Given the description of an element on the screen output the (x, y) to click on. 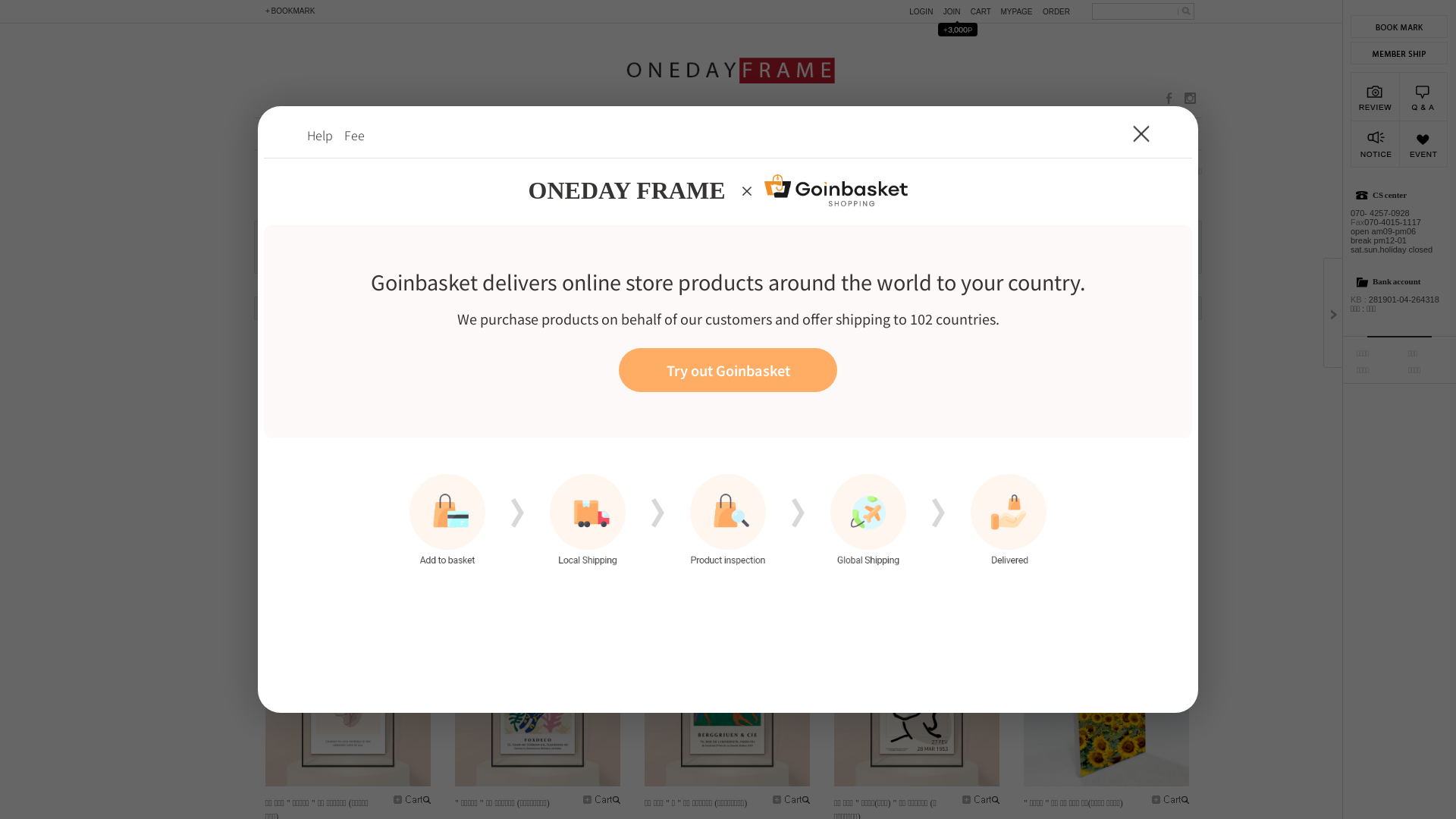
CART Element type: text (985, 11)
JOIN Element type: text (955, 11)
ORDER Element type: text (1059, 11)
+ BOOKMARK Element type: text (288, 11)
MYPAGE Element type: text (1019, 11)
+3,000P Element type: text (961, 28)
First Layer Element type: hover (727, 409)
LOGIN Element type: text (924, 11)
